Given the description of an element on the screen output the (x, y) to click on. 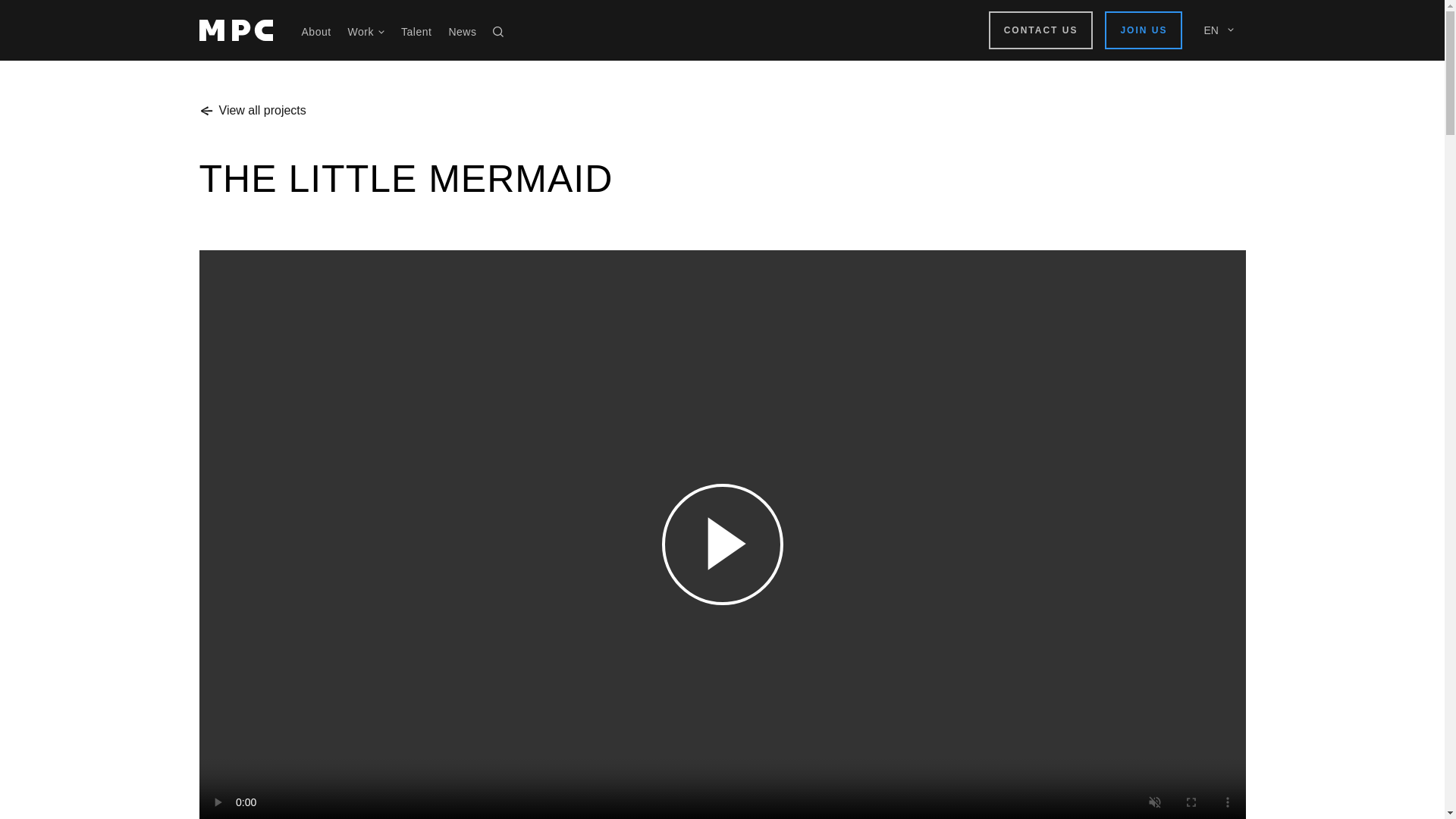
News (462, 31)
Talent (415, 31)
EN (1214, 29)
Work (365, 31)
JOIN US (1143, 30)
View all projects (251, 110)
About (316, 31)
CONTACT US (1040, 30)
